Given the description of an element on the screen output the (x, y) to click on. 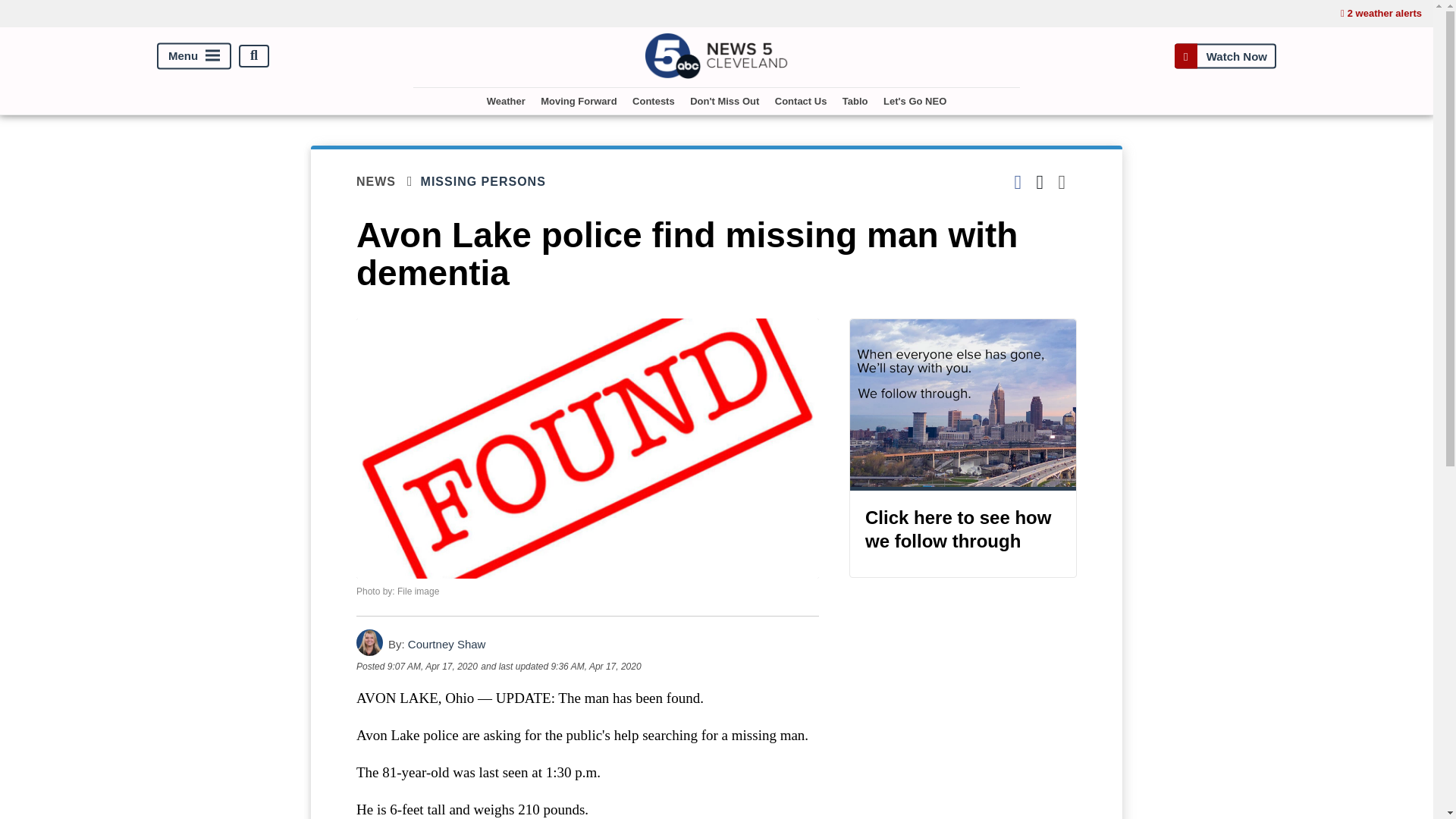
Watch Now (1224, 55)
Menu (194, 55)
